Given the description of an element on the screen output the (x, y) to click on. 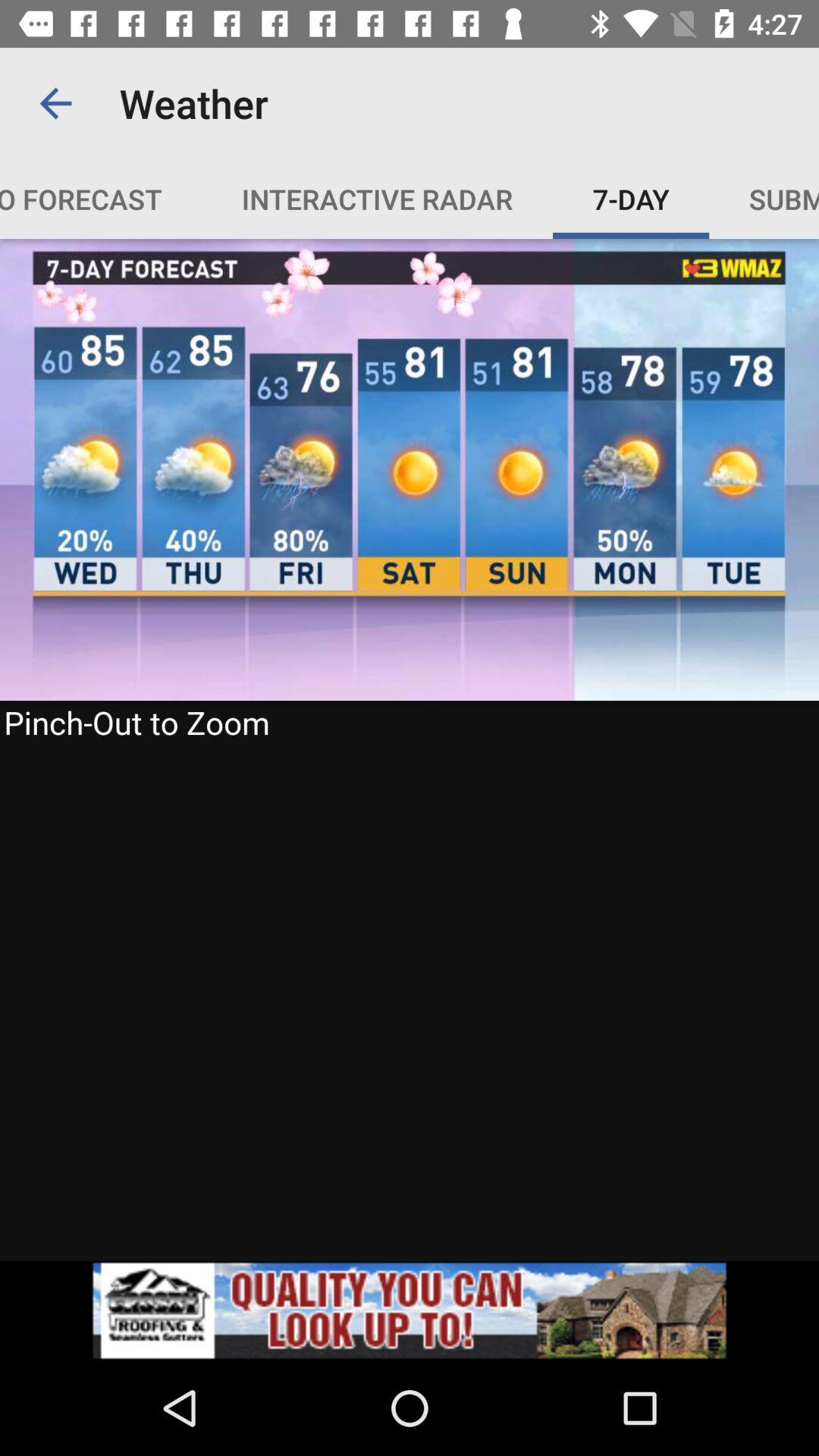
expand image (409, 749)
